Given the description of an element on the screen output the (x, y) to click on. 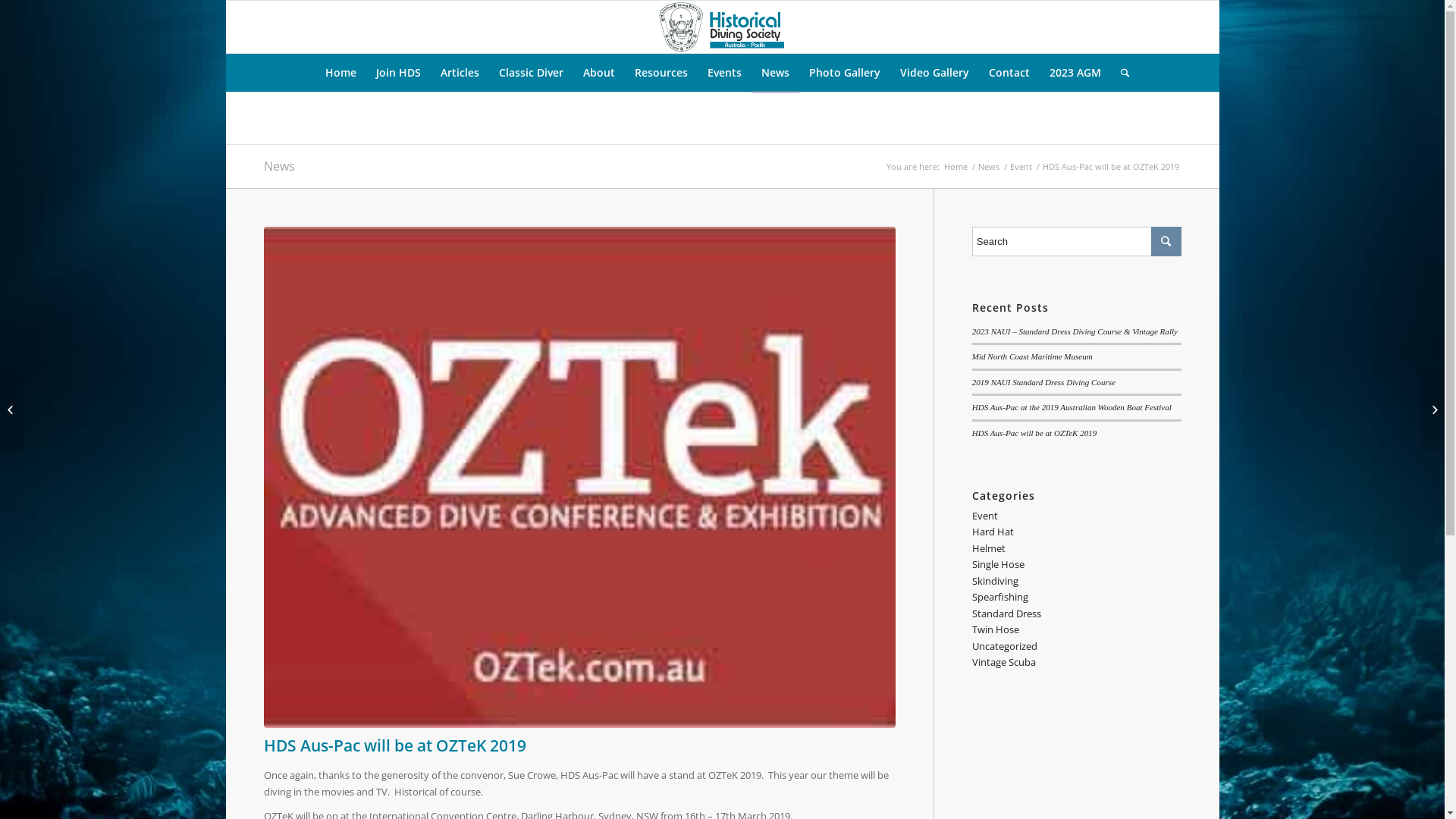
About Element type: text (598, 72)
Single Hose Element type: text (998, 564)
Resources Element type: text (660, 72)
HDS Aus-Pac will be at OZTeK 2019 Element type: text (1034, 432)
Skindiving Element type: text (995, 580)
HDS Aus-Pac will be at OZTeK 2019 Element type: text (394, 745)
Event Element type: text (1020, 166)
Join HDS Element type: text (398, 72)
Mid North Coast Maritime Museum Element type: text (1032, 355)
Vintage Scuba Element type: text (1003, 661)
News Element type: text (278, 165)
Spearfishing Element type: text (1000, 596)
Events Element type: text (724, 72)
Home Element type: text (340, 72)
Hard Hat Element type: text (992, 531)
Contact Element type: text (1009, 72)
Photo Gallery Element type: text (844, 72)
HDS Aus-Pac at the 2019 Australian Wooden Boat Festival Element type: text (1071, 406)
Event Element type: text (984, 515)
HDS Aus-Pac will be at OZTeK 2019 Element type: hover (579, 477)
2023 AGM Element type: text (1074, 72)
Home Element type: text (955, 166)
Classic Diver Element type: text (531, 72)
Uncategorized Element type: text (1004, 645)
Twin Hose Element type: text (995, 629)
News Element type: text (988, 166)
Articles Element type: text (459, 72)
News Element type: text (775, 72)
Video Gallery Element type: text (934, 72)
Helmet Element type: text (988, 548)
Standard Dress Element type: text (1006, 613)
2019 NAUI Standard Dress Diving Course Element type: text (1043, 381)
